Given the description of an element on the screen output the (x, y) to click on. 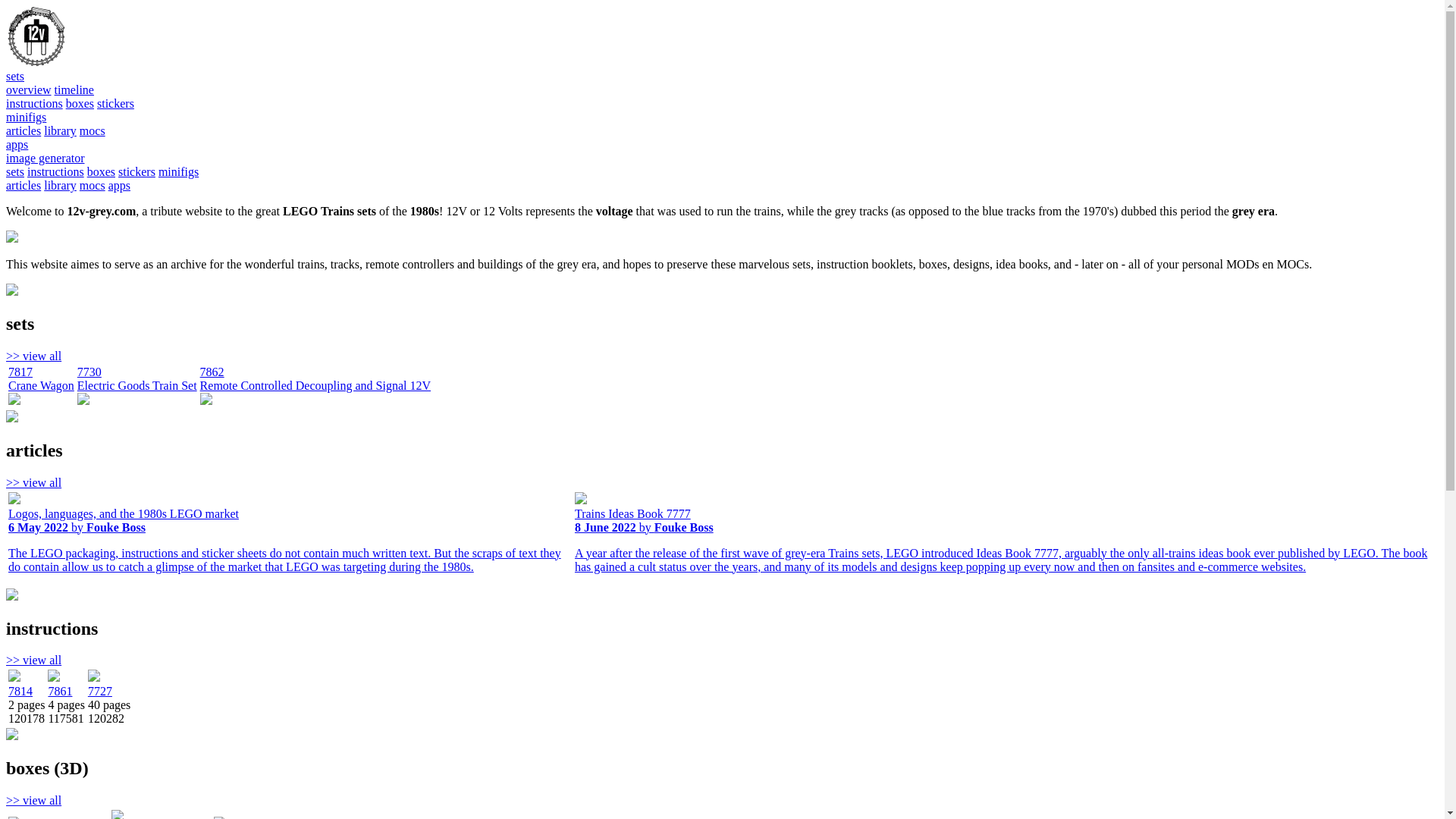
7730
Electric Goods Train Set Element type: text (137, 386)
articles Element type: text (23, 130)
instructions Element type: text (55, 171)
7862
Remote Controlled Decoupling and Signal 12V Element type: text (315, 386)
image generator Element type: text (45, 157)
>> view all Element type: text (33, 355)
7727 Element type: text (99, 690)
7817
Crane Wagon Element type: text (41, 386)
library Element type: text (59, 130)
minifigs Element type: text (178, 171)
boxes Element type: text (101, 171)
overview Element type: text (28, 89)
mocs Element type: text (92, 184)
articles Element type: text (23, 184)
library Element type: text (59, 184)
boxes Element type: text (79, 103)
>> view all Element type: text (33, 482)
sets Element type: text (15, 171)
instructions Element type: text (34, 103)
apps Element type: text (119, 184)
7814 Element type: text (20, 690)
apps Element type: text (17, 144)
stickers Element type: text (115, 103)
>> view all Element type: text (33, 659)
mocs Element type: text (92, 130)
timeline Element type: text (74, 89)
sets Element type: text (15, 75)
minifigs Element type: text (26, 116)
>> view all Element type: text (33, 799)
stickers Element type: text (136, 171)
7861 Element type: text (59, 690)
